Given the description of an element on the screen output the (x, y) to click on. 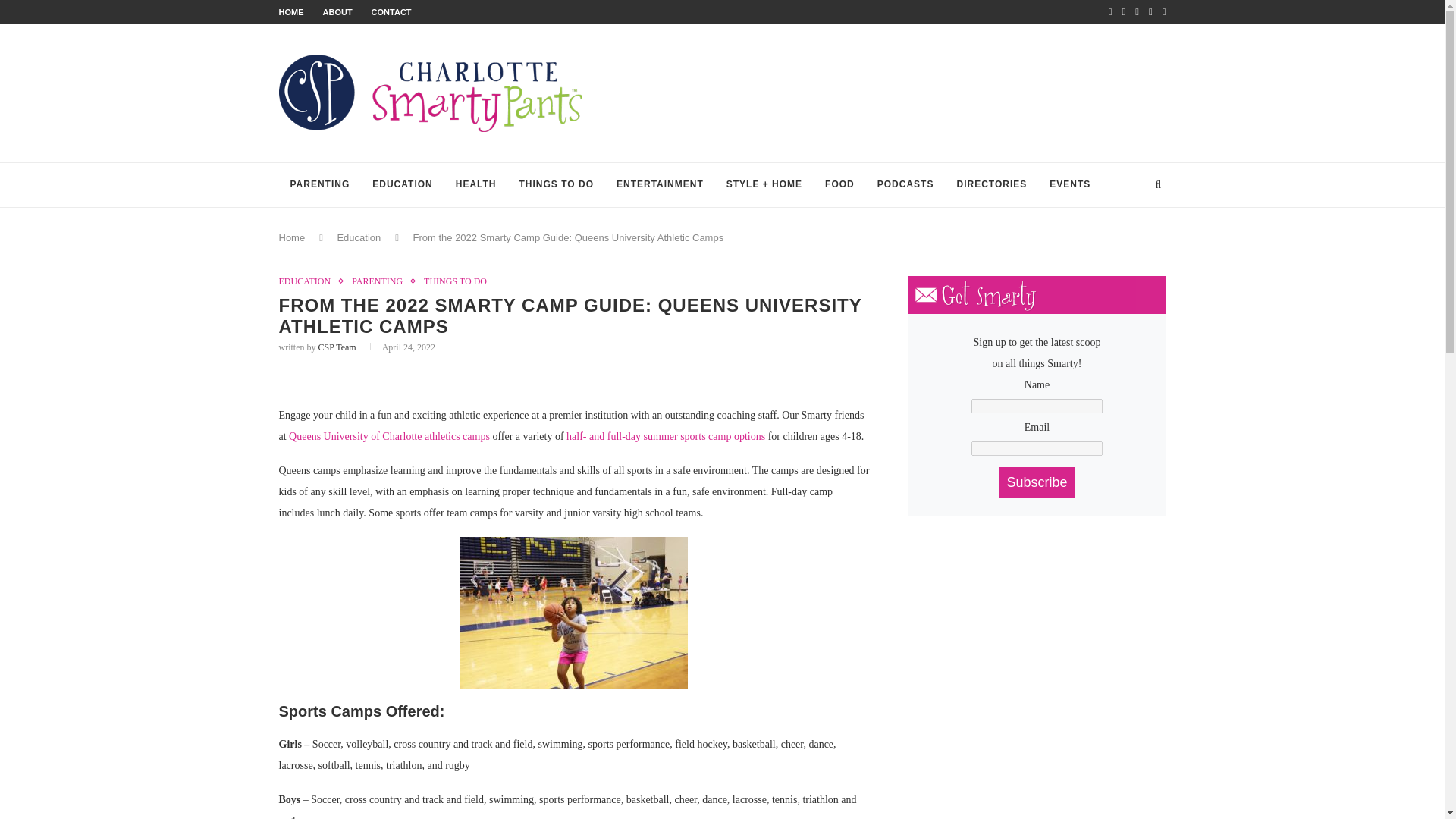
ABOUT (337, 11)
THINGS TO DO (454, 281)
PODCASTS (905, 185)
DIRECTORIES (991, 185)
Education (358, 237)
Home (292, 237)
EDUCATION (402, 185)
HOME (291, 11)
EVENTS (1070, 185)
FOOD (839, 185)
